Given the description of an element on the screen output the (x, y) to click on. 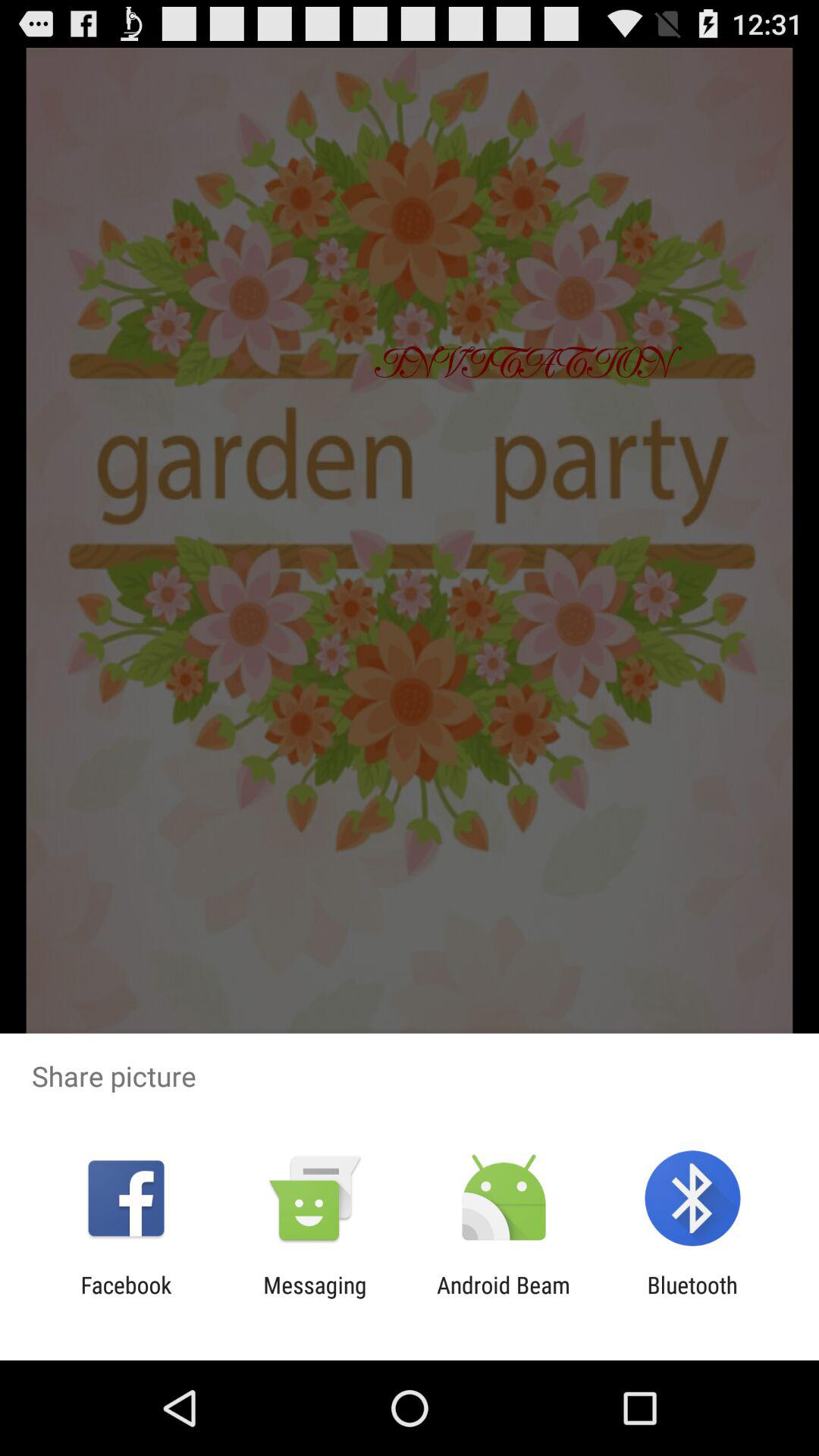
flip until the facebook item (125, 1298)
